Given the description of an element on the screen output the (x, y) to click on. 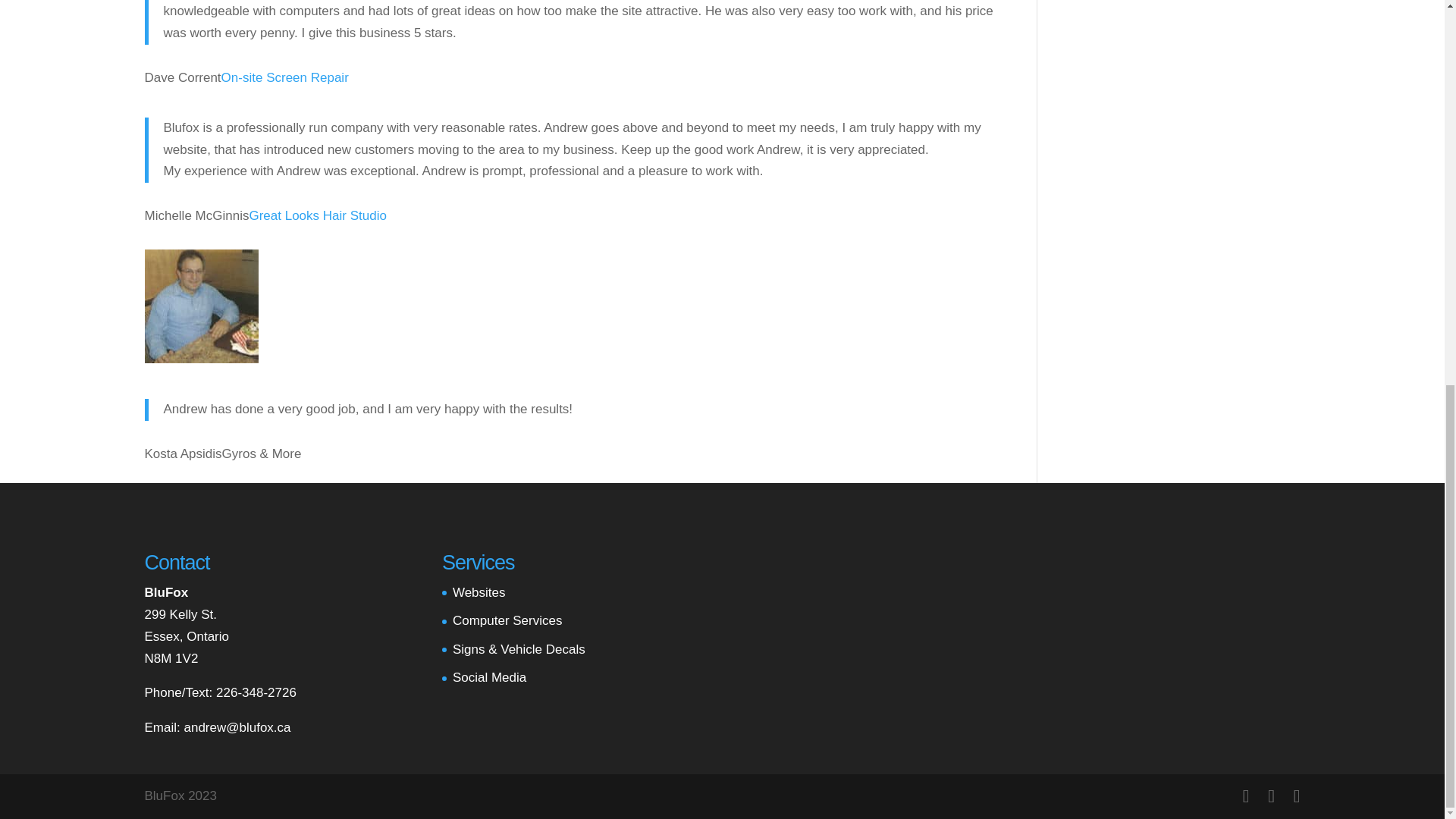
Great Looks Hair Studio (316, 215)
226-348-2726 (256, 692)
On-site Screen Repair (285, 77)
